Given the description of an element on the screen output the (x, y) to click on. 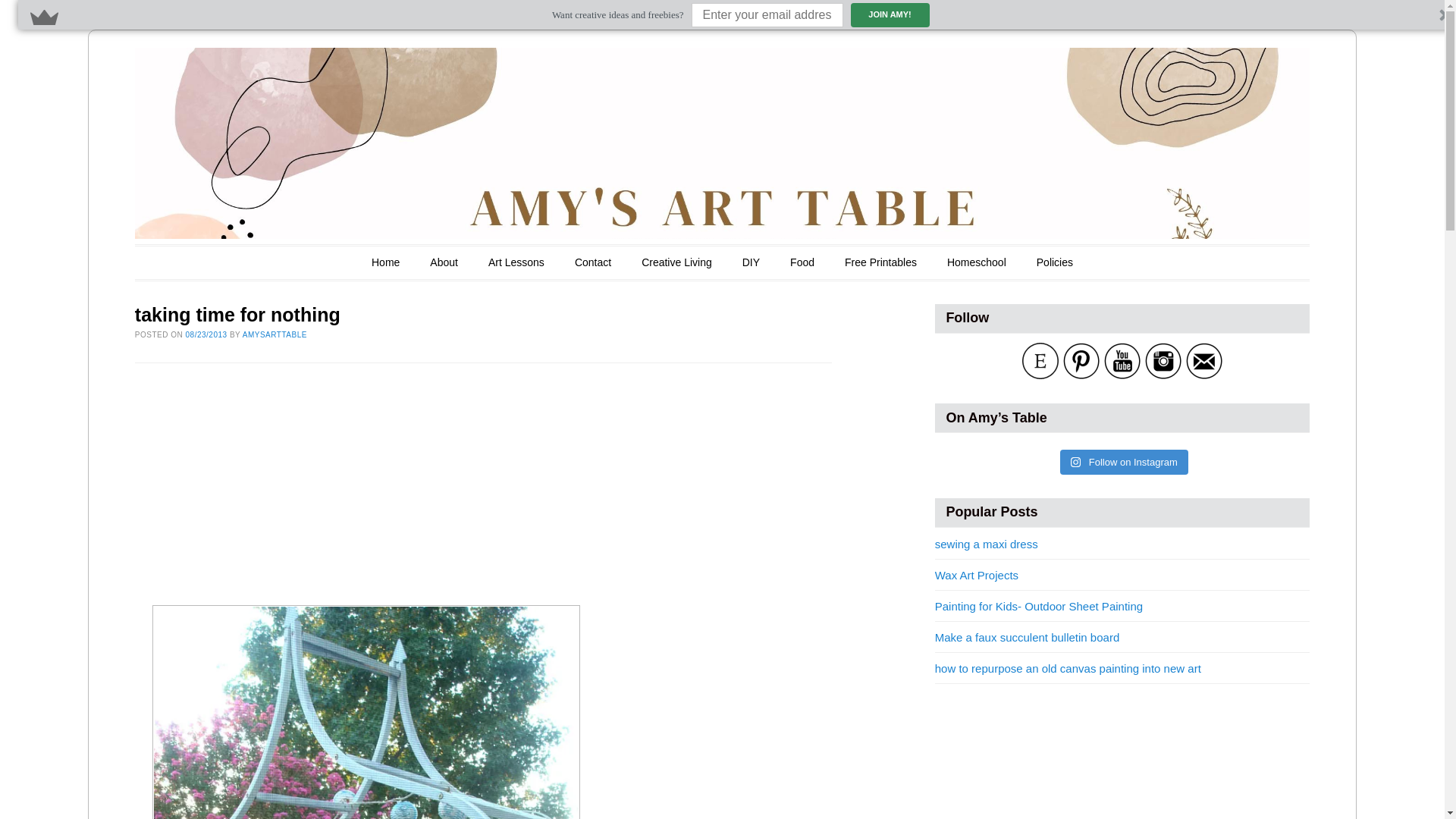
Homeschool (976, 262)
Food (802, 262)
2:59 pm (206, 334)
Skip to content (187, 262)
morning out our kitchen window (365, 712)
Skip to content (187, 262)
Art Lessons (515, 262)
Free Printables (880, 262)
Home (385, 262)
Contact (592, 262)
Creative Living (676, 262)
Amy's Art Table (290, 73)
Policies (1054, 262)
JOIN AMY! (890, 15)
